Given the description of an element on the screen output the (x, y) to click on. 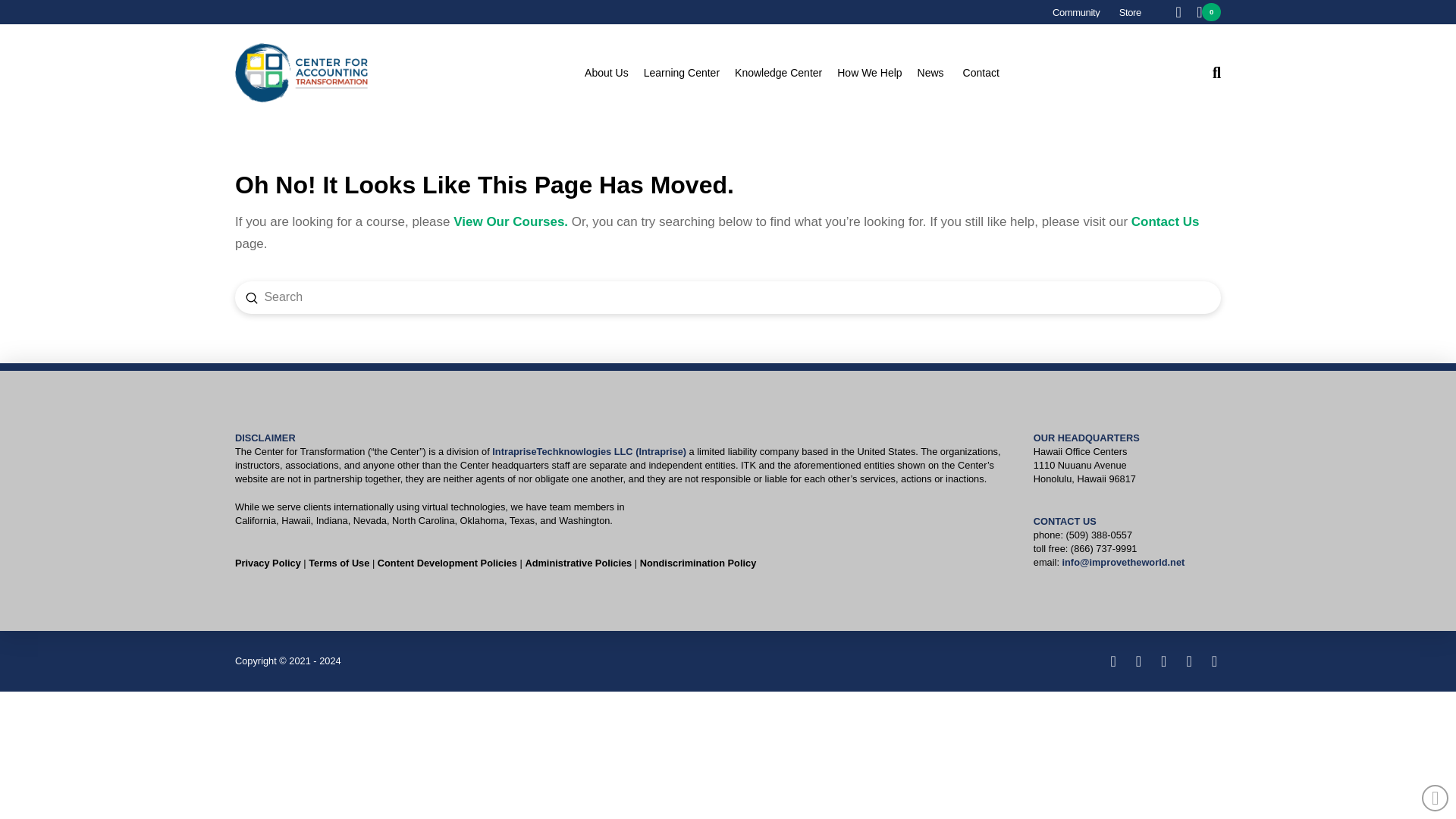
Contact (981, 72)
Terms of Use (338, 562)
Administrative Policies (577, 562)
Back to Top (1435, 797)
Store (1130, 12)
Submit (251, 297)
Privacy Policy (267, 562)
Knowledge Center (786, 72)
Learning Center (689, 72)
How We Help (877, 72)
